Given the description of an element on the screen output the (x, y) to click on. 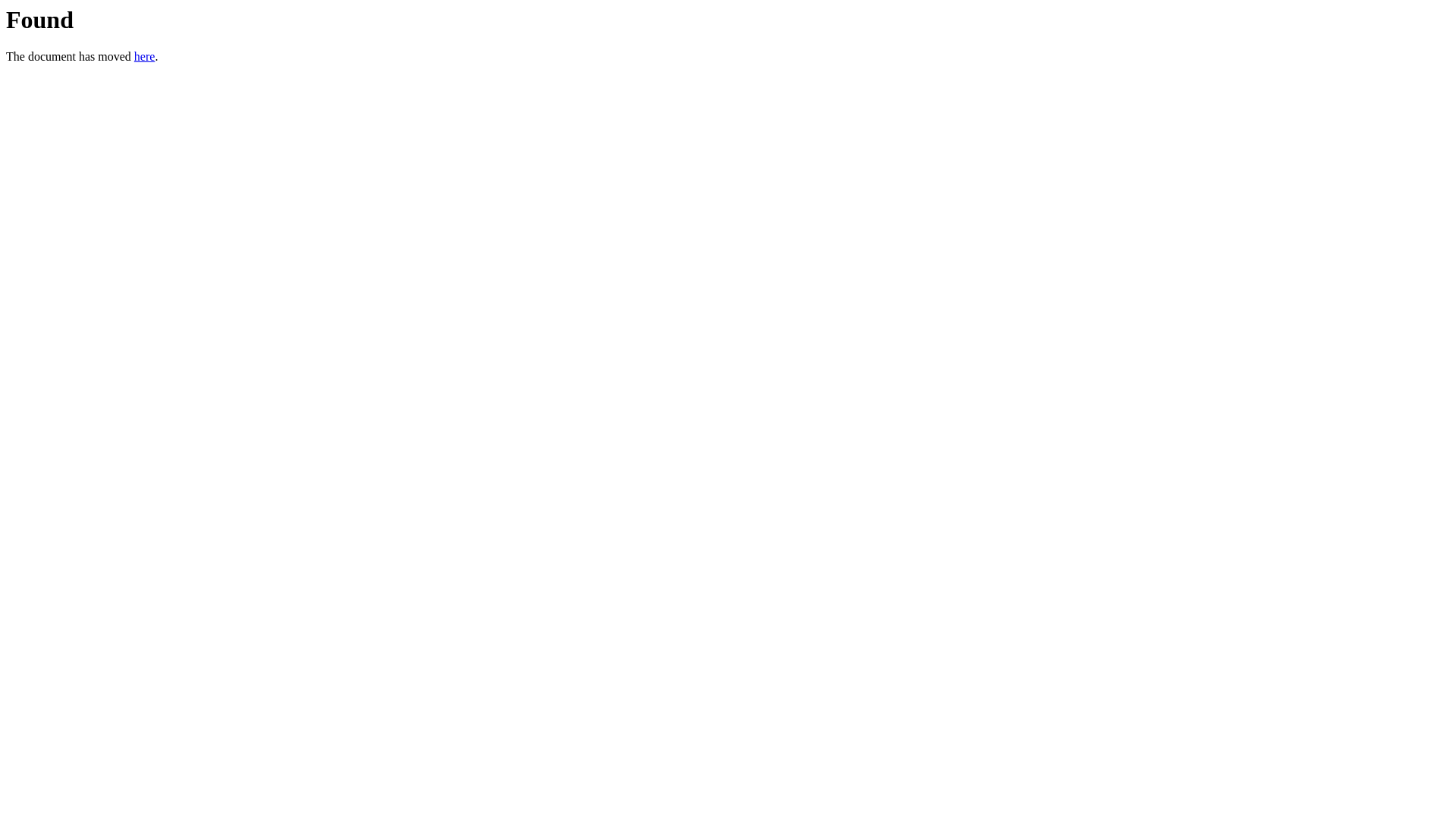
here Element type: text (144, 56)
